Given the description of an element on the screen output the (x, y) to click on. 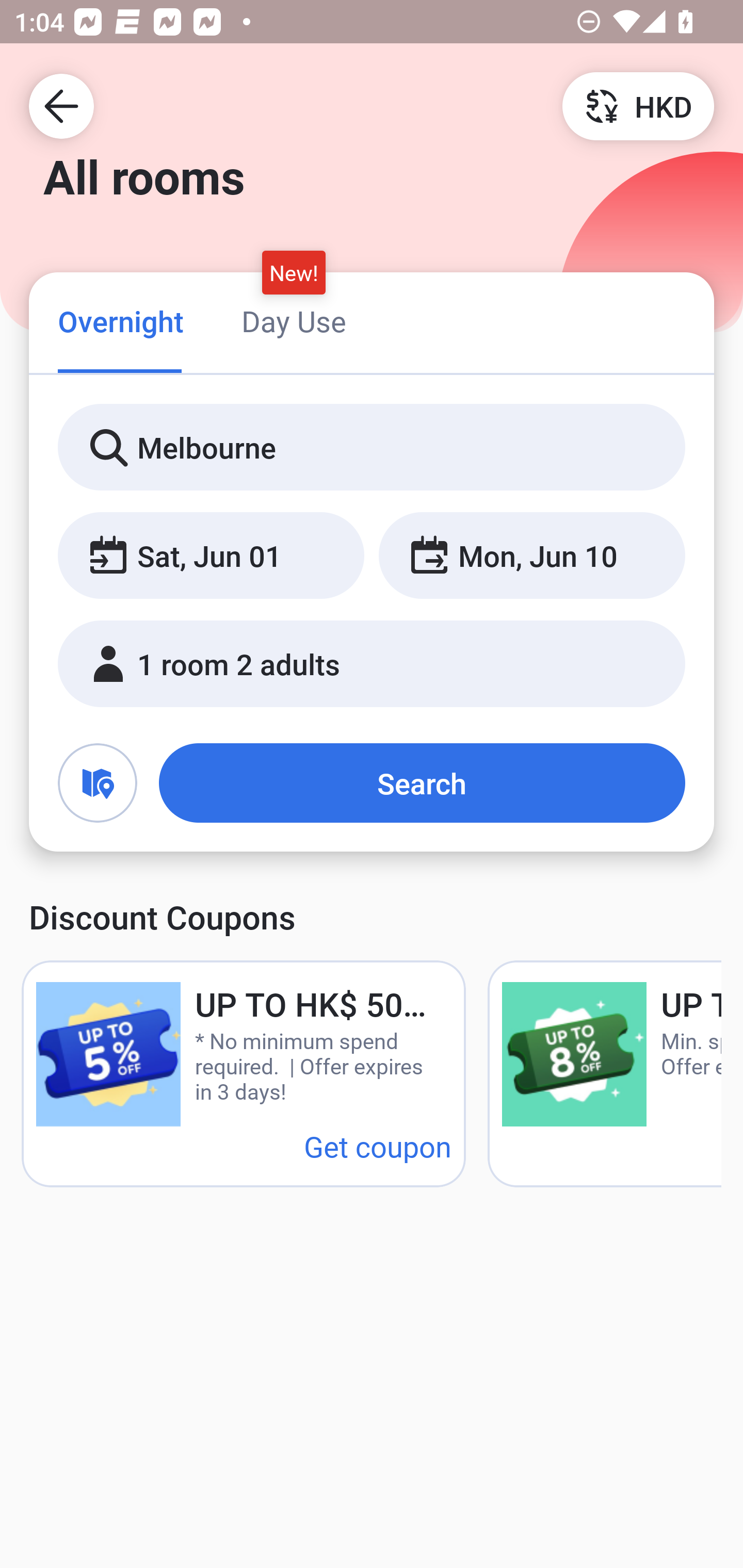
HKD (638, 105)
New! (294, 272)
Day Use (293, 321)
Melbourne (371, 447)
Sat, Jun 01 (210, 555)
Mon, Jun 10 (531, 555)
1 room 2 adults (371, 663)
Search (422, 783)
Get coupon (377, 1146)
